Given the description of an element on the screen output the (x, y) to click on. 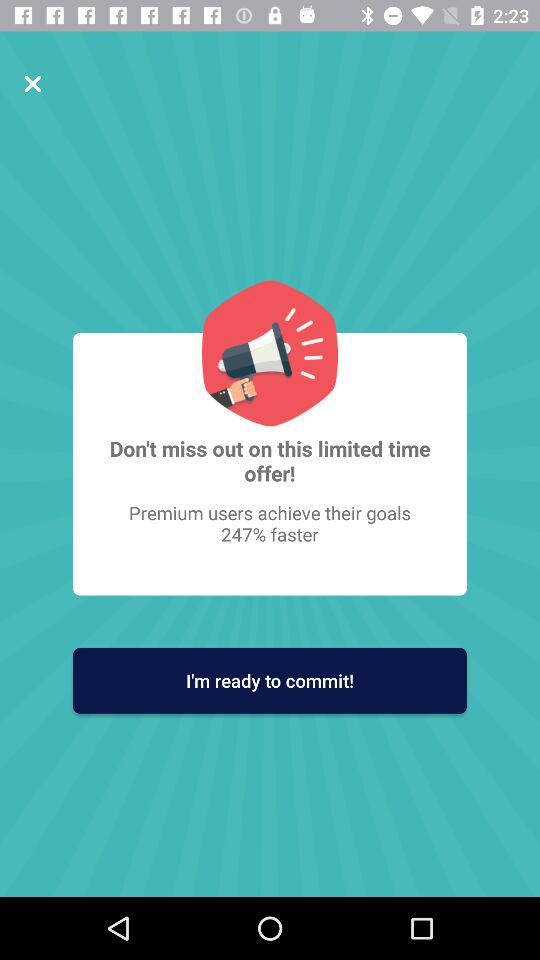
press the item at the top left corner (32, 83)
